Given the description of an element on the screen output the (x, y) to click on. 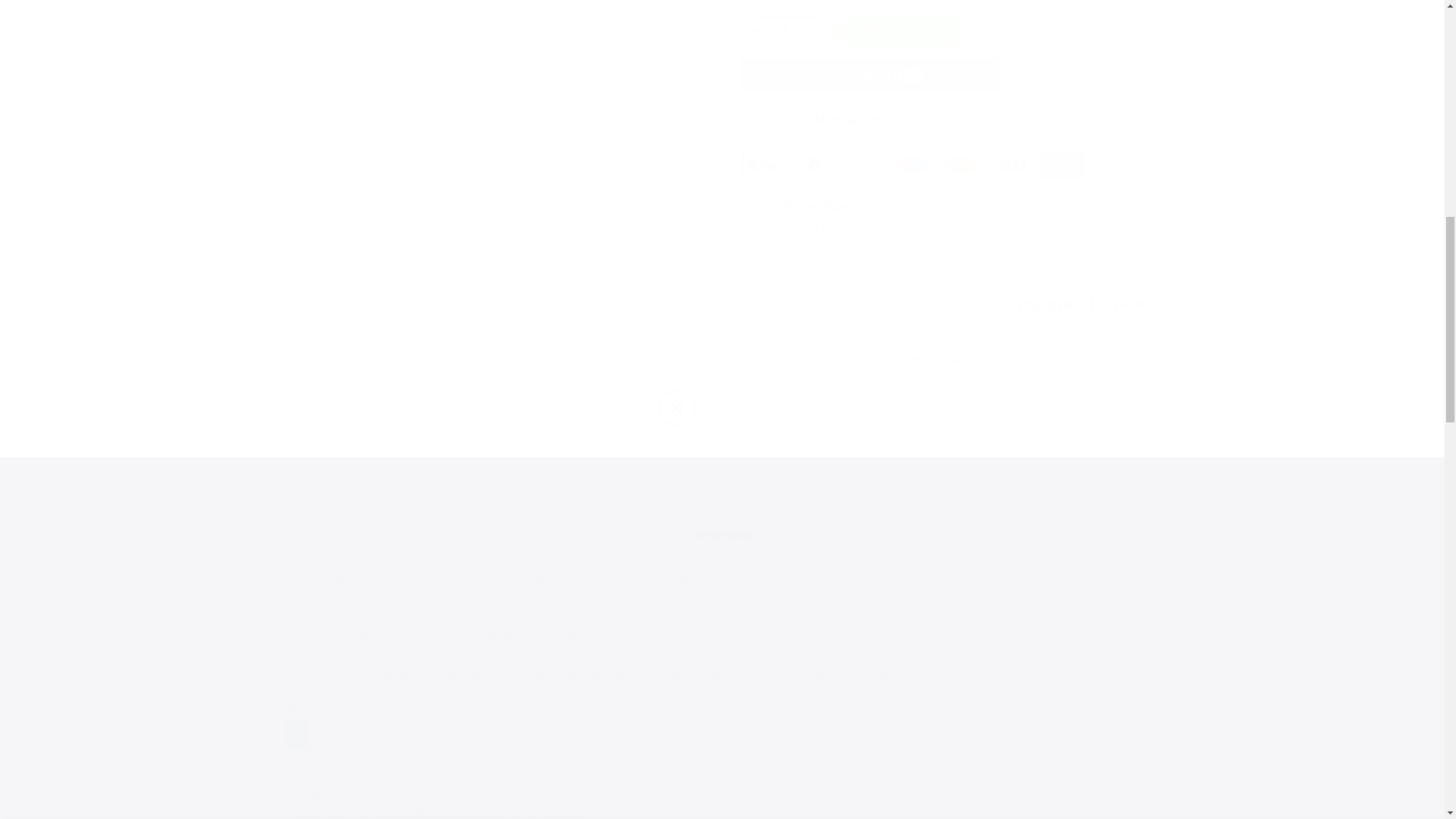
1 (973, 35)
